Given the description of an element on the screen output the (x, y) to click on. 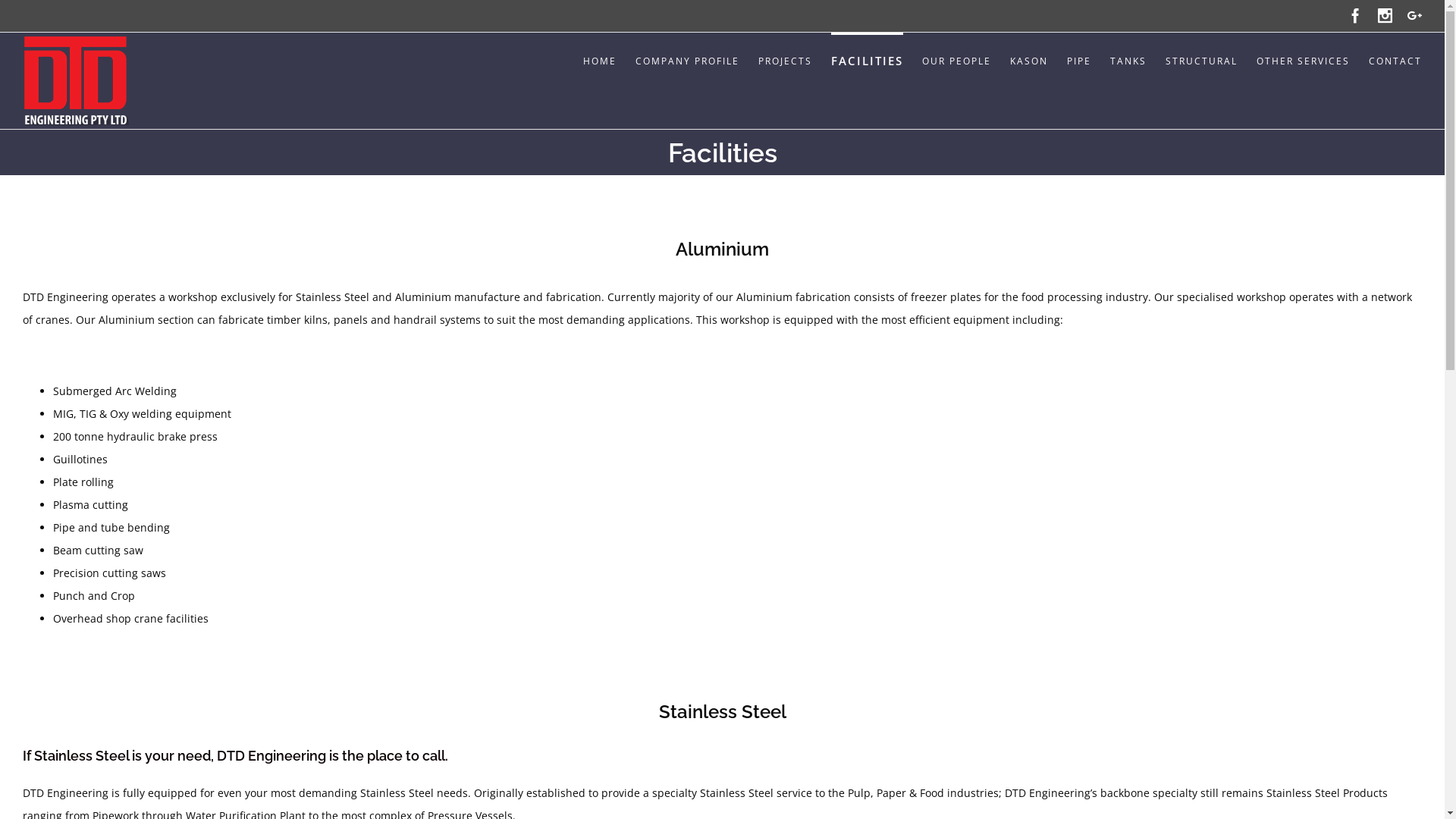
TANKS Element type: text (1128, 59)
PROJECTS Element type: text (785, 59)
COMPANY PROFILE Element type: text (687, 59)
KASON Element type: text (1029, 59)
Facebook Element type: hover (1355, 15)
Instagram Element type: hover (1384, 15)
HOME Element type: text (599, 59)
OTHER SERVICES Element type: text (1302, 59)
CONTACT Element type: text (1394, 59)
PIPE Element type: text (1078, 59)
STRUCTURAL Element type: text (1201, 59)
OUR PEOPLE Element type: text (956, 59)
Google+ Element type: hover (1414, 15)
FACILITIES Element type: text (867, 59)
